Given the description of an element on the screen output the (x, y) to click on. 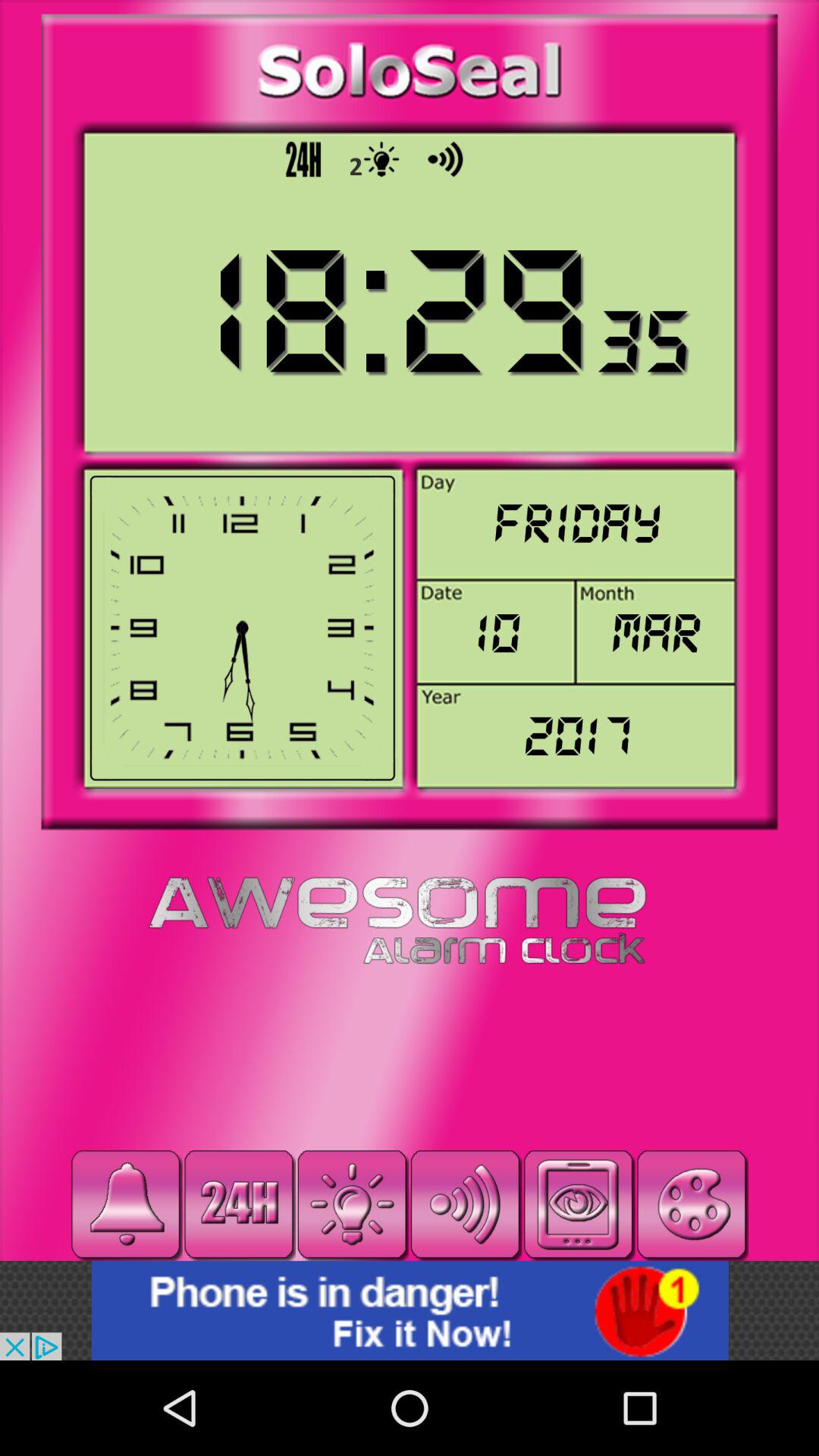
bell button (125, 1203)
